Given the description of an element on the screen output the (x, y) to click on. 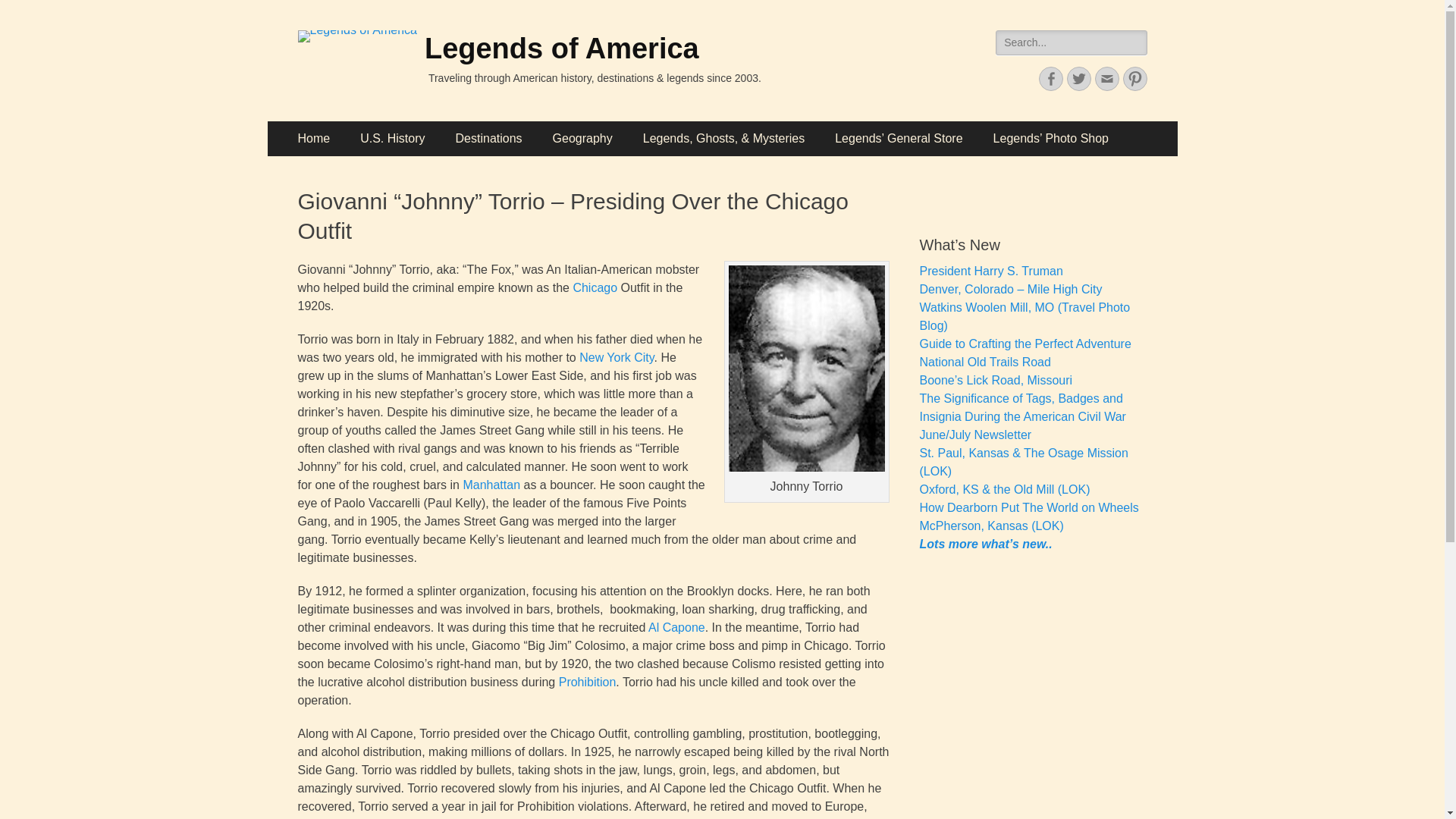
Pinterest (1134, 78)
Email (1106, 78)
Twitter (1077, 78)
U.S. History (392, 138)
Search (24, 9)
Facebook (1050, 78)
Twitter (1077, 78)
Email (1106, 78)
Home (313, 138)
Legends of America (561, 48)
